Given the description of an element on the screen output the (x, y) to click on. 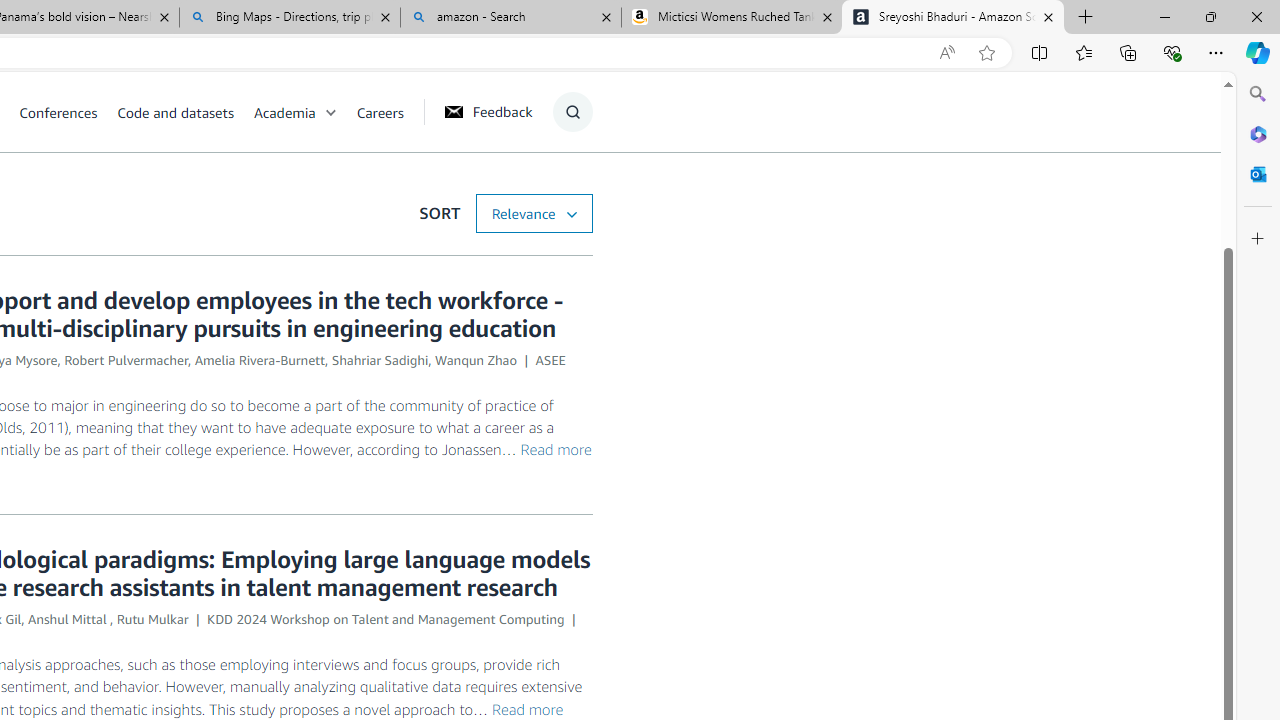
Academia (284, 111)
KDD 2024 Workshop on Talent and Management Computing (385, 619)
Amelia Rivera-Burnett (260, 360)
Wanqun Zhao (475, 360)
Class: chevron (330, 116)
Academia (305, 111)
Open Sub Navigation (330, 111)
Shahriar Sadighi (379, 360)
Rutu Mulkar (152, 619)
Read more (527, 708)
